Given the description of an element on the screen output the (x, y) to click on. 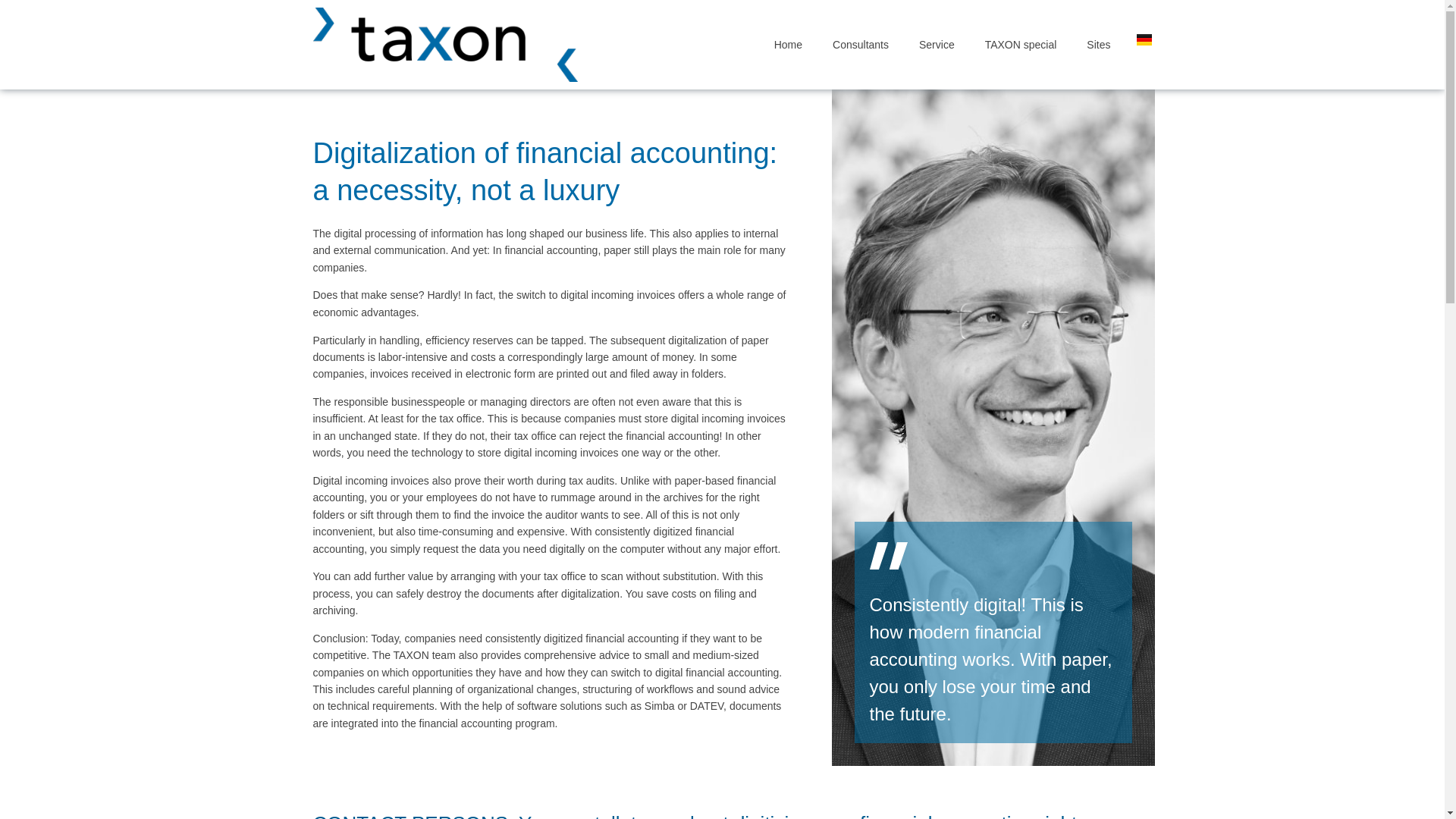
Consultants (860, 44)
Service (936, 44)
TAXON special (1020, 44)
Sites (1098, 44)
Home (787, 44)
